Given the description of an element on the screen output the (x, y) to click on. 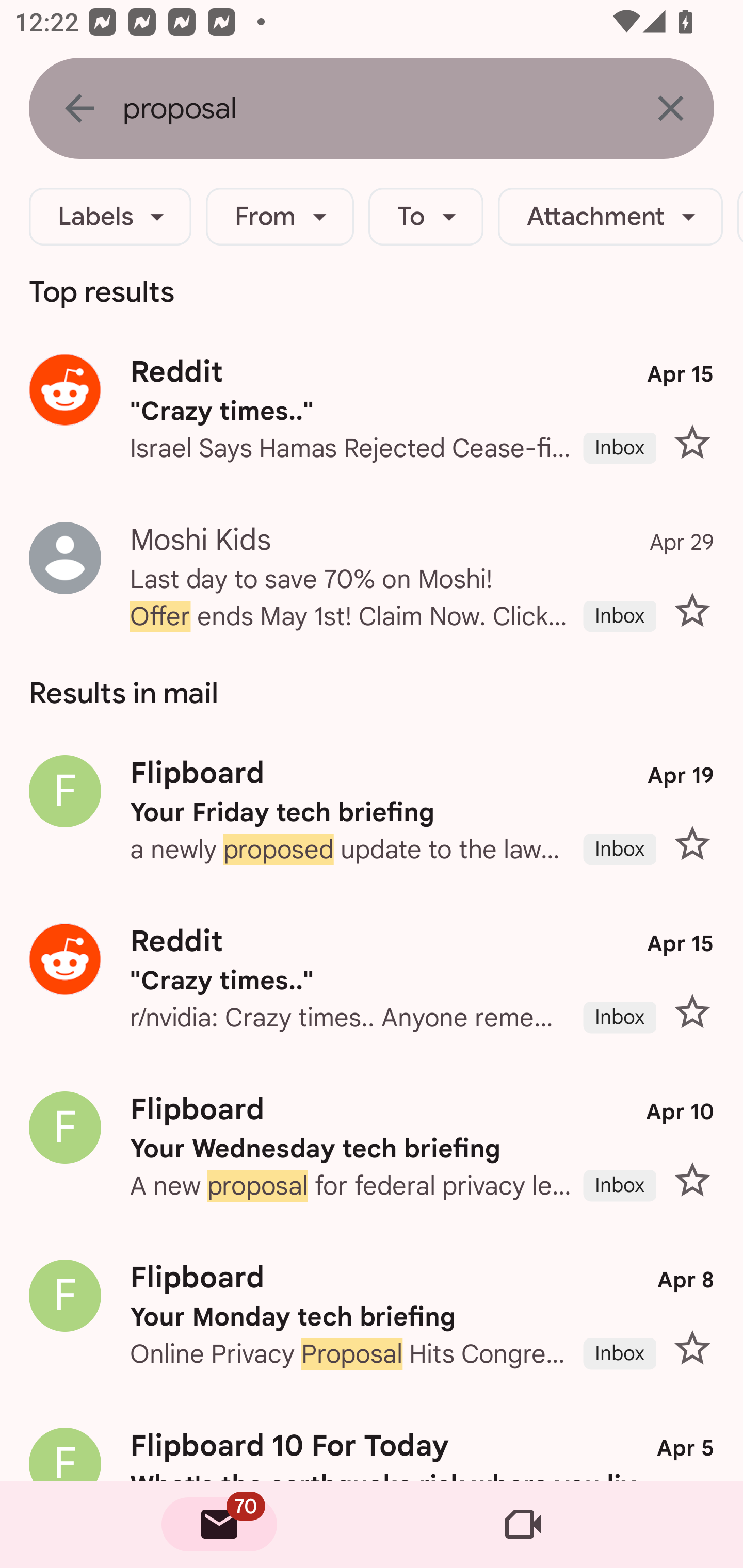
proposal Navigate up proposal Clear search text (371, 108)
Navigate up (79, 108)
Clear search text (670, 108)
Labels (109, 217)
From (279, 217)
To (425, 217)
Attachment (609, 217)
Meet (523, 1524)
